Given the description of an element on the screen output the (x, y) to click on. 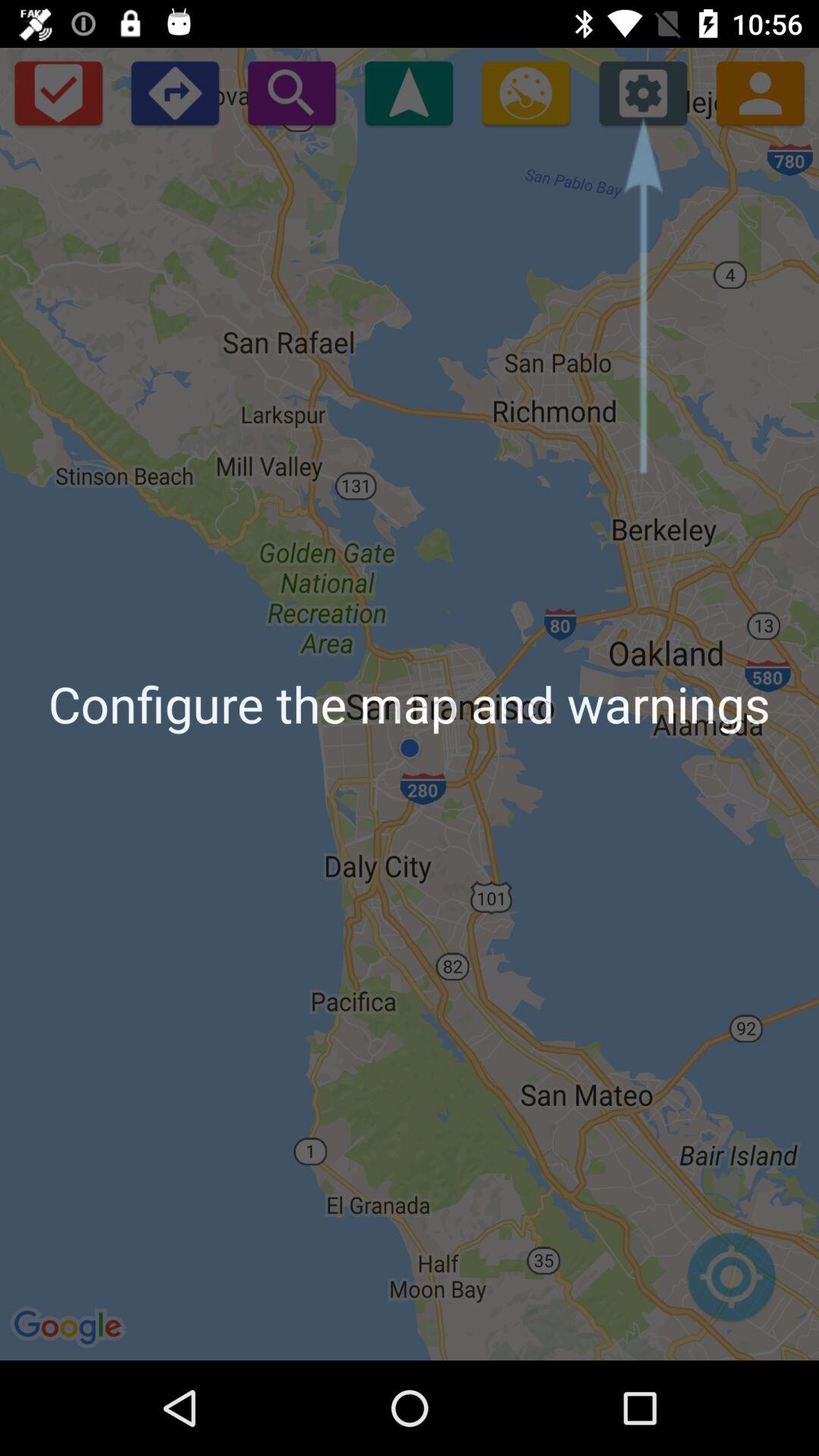
view map (731, 1284)
